Given the description of an element on the screen output the (x, y) to click on. 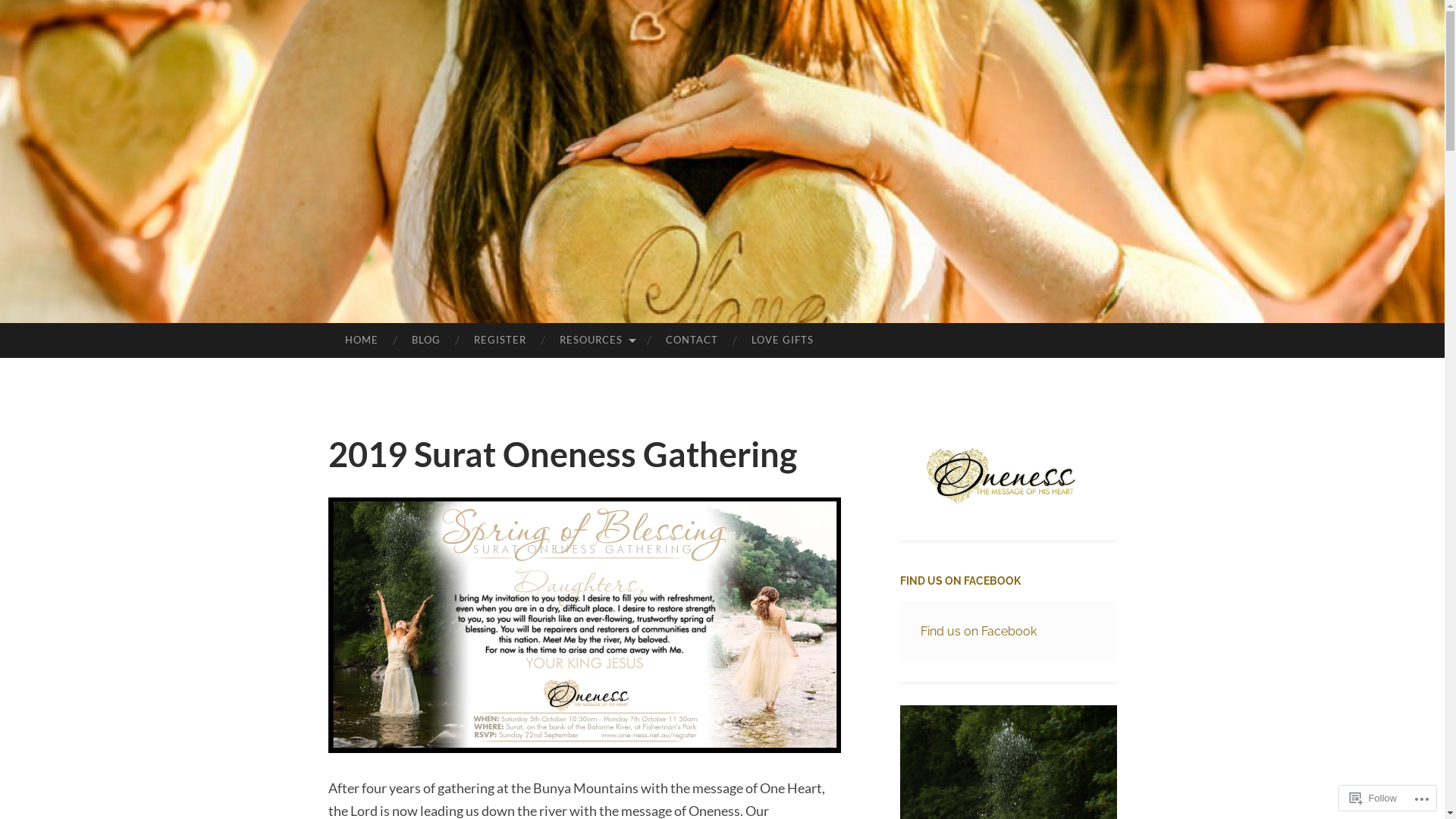
RESOURCES Element type: text (595, 340)
FIND US ON FACEBOOK Element type: text (959, 580)
HOME Element type: text (360, 340)
Find us on Facebook Element type: text (978, 631)
CONTACT Element type: text (691, 340)
BLOG Element type: text (426, 340)
LOVE GIFTS Element type: text (782, 340)
ONENESS Element type: text (768, 244)
Follow Element type: text (1372, 797)
REGISTER Element type: text (499, 340)
